Given the description of an element on the screen output the (x, y) to click on. 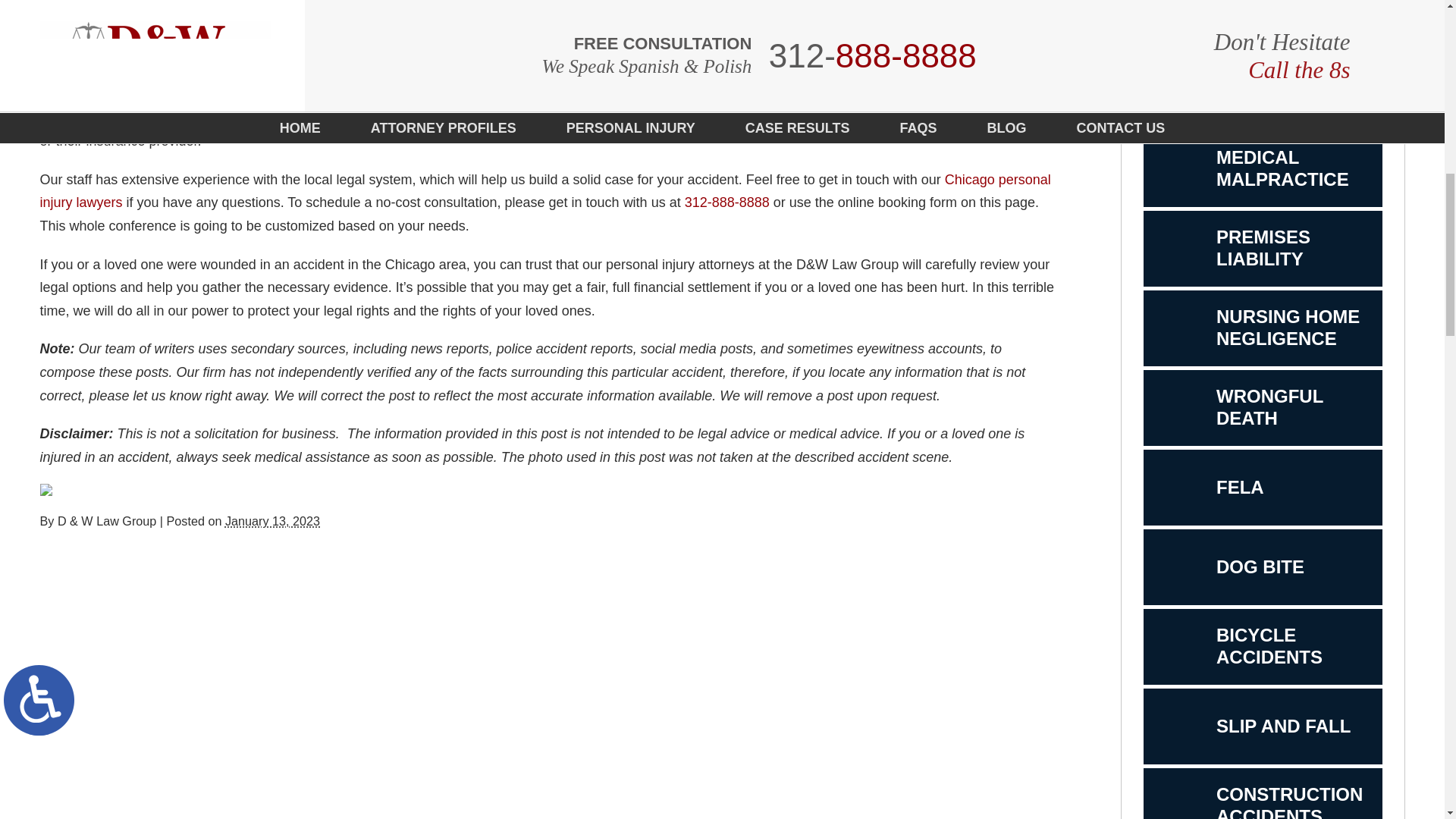
LinkedIn (1261, 248)
Twitter (1261, 23)
2023-01-13T20:29:21-0800 (1261, 169)
Facebook (66, 490)
312-888-8888 (55, 490)
Chicago personal injury lawyers (272, 520)
